Given the description of an element on the screen output the (x, y) to click on. 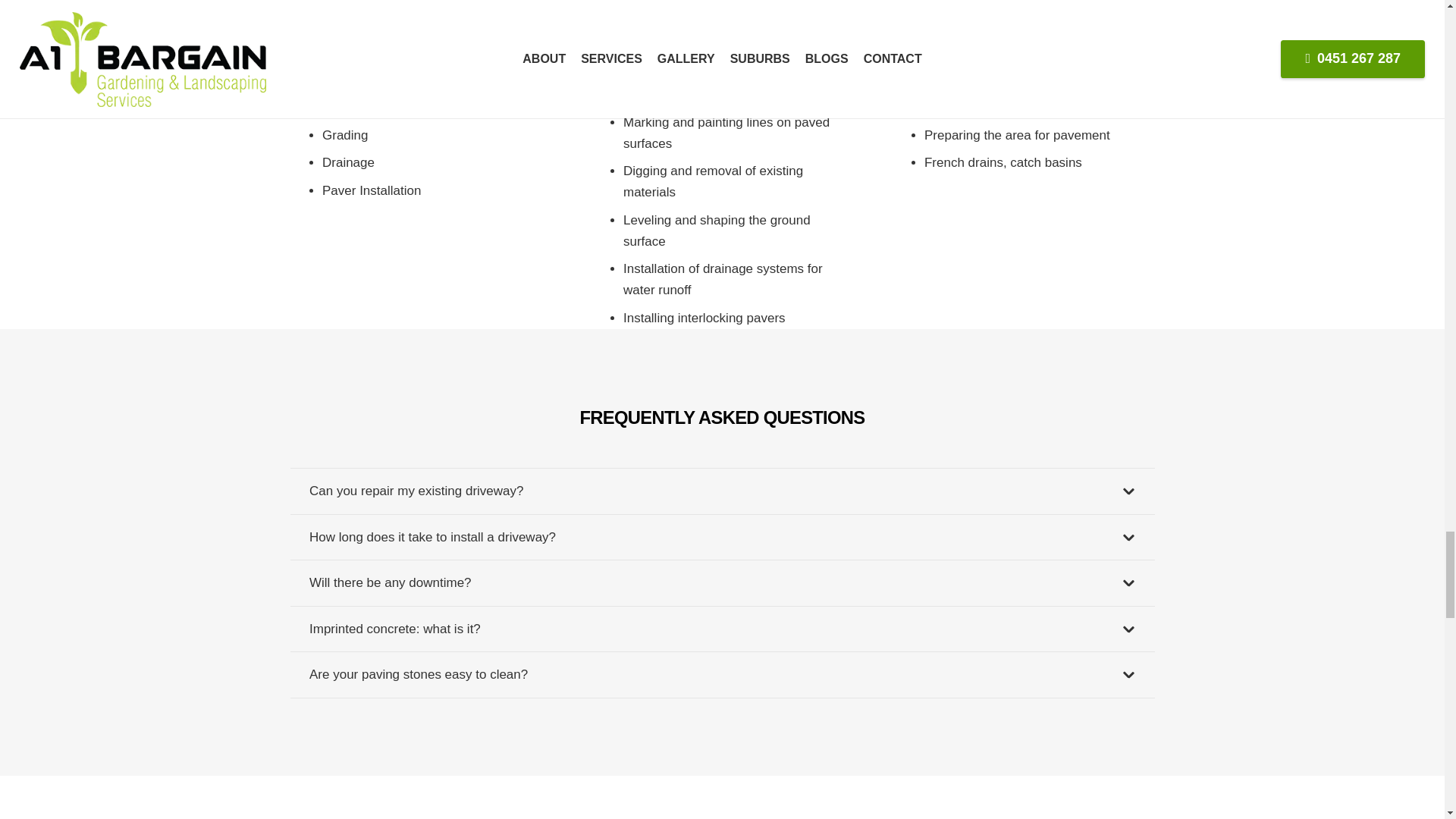
Are your paving stones easy to clean? (721, 674)
Will there be any downtime? (721, 583)
How long does it take to install a driveway? (721, 537)
Imprinted concrete: what is it? (721, 628)
Can you repair my existing driveway? (721, 491)
